Given the description of an element on the screen output the (x, y) to click on. 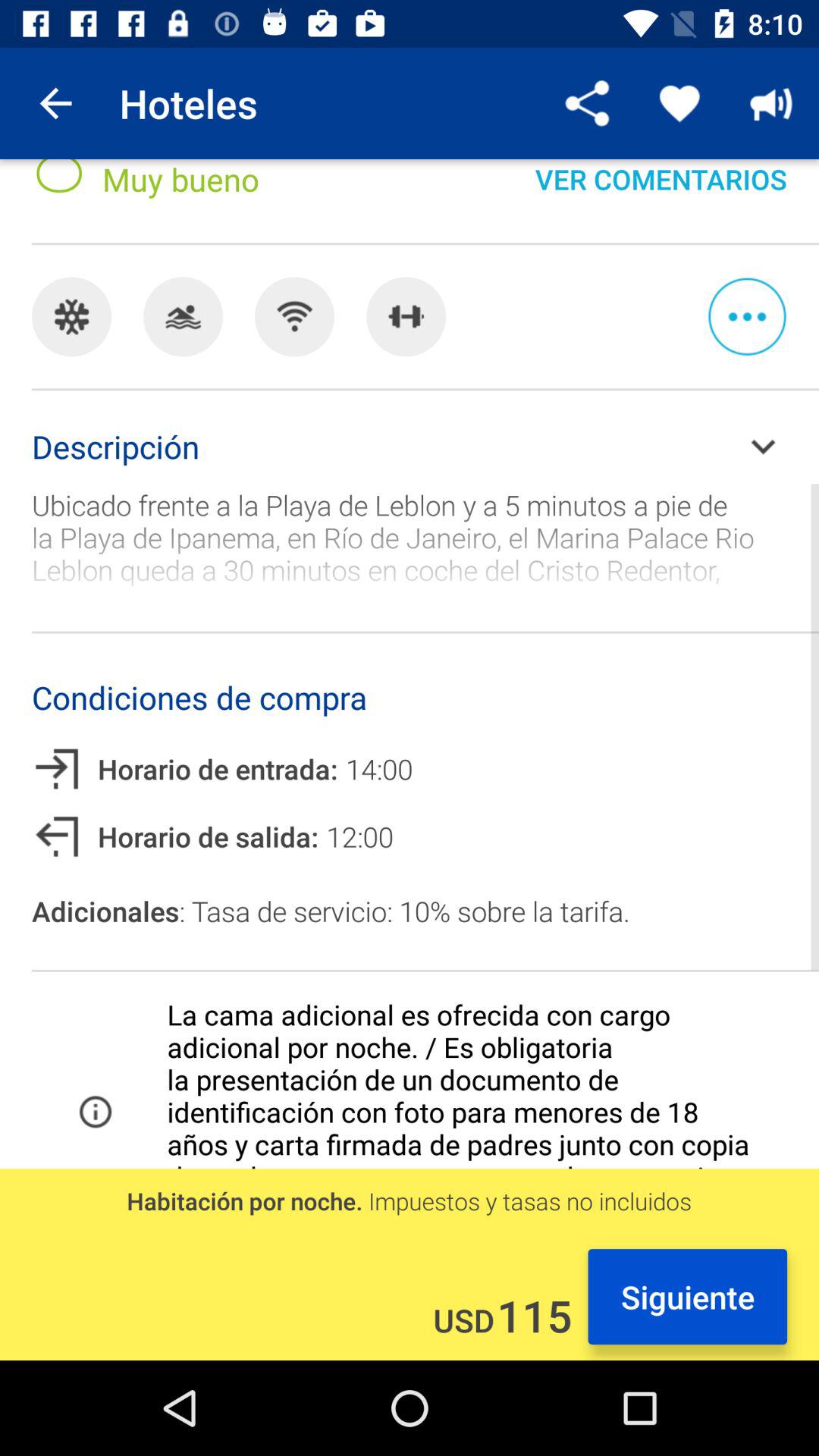
scroll until the siguiente icon (687, 1296)
